Given the description of an element on the screen output the (x, y) to click on. 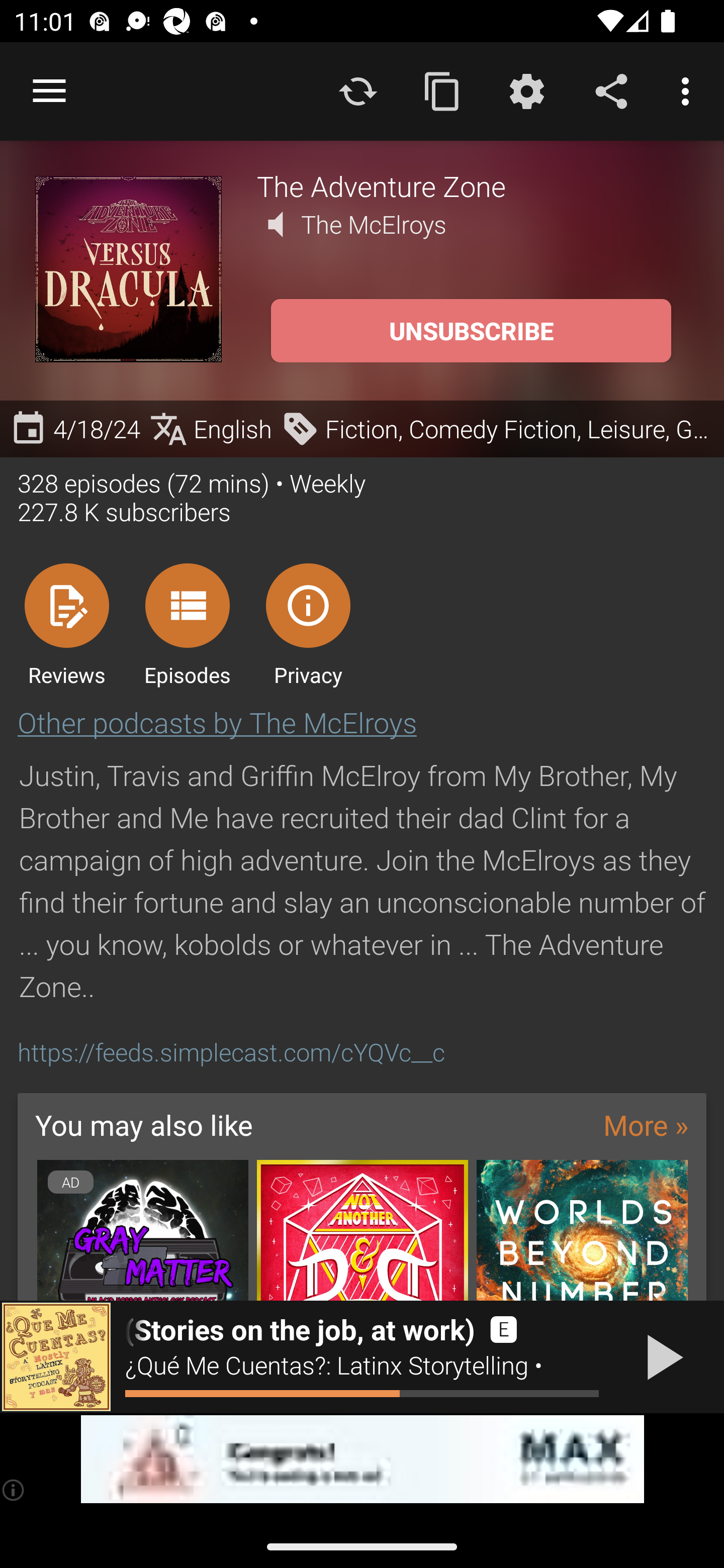
Open navigation sidebar (49, 91)
Refresh podcast description (357, 90)
Copy feed url to clipboard (442, 90)
Custom Settings (526, 90)
Share the podcast (611, 90)
More options (688, 90)
The Adventure Zone (472, 185)
The McElroys (373, 223)
UNSUBSCRIBE (470, 330)
Fiction, Comedy Fiction, Leisure, Games (497, 428)
Reviews (66, 623)
Episodes (187, 623)
Privacy (307, 623)
Other podcasts by The McElroys (217, 721)
More » (645, 1124)
AD (142, 1229)
Play / Pause (660, 1356)
app-monetization (362, 1459)
(i) (14, 1489)
